Given the description of an element on the screen output the (x, y) to click on. 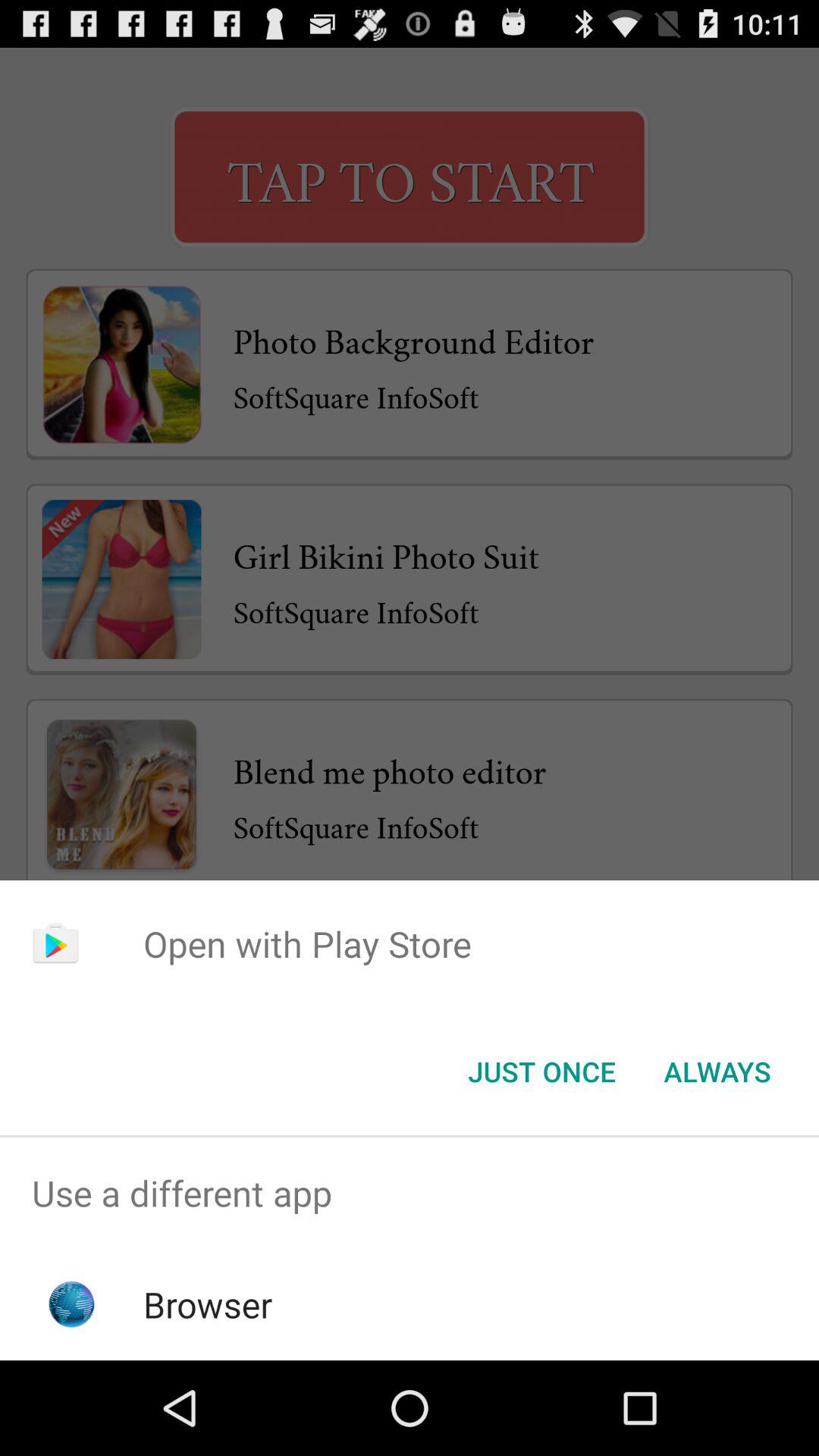
turn on use a different item (409, 1192)
